Given the description of an element on the screen output the (x, y) to click on. 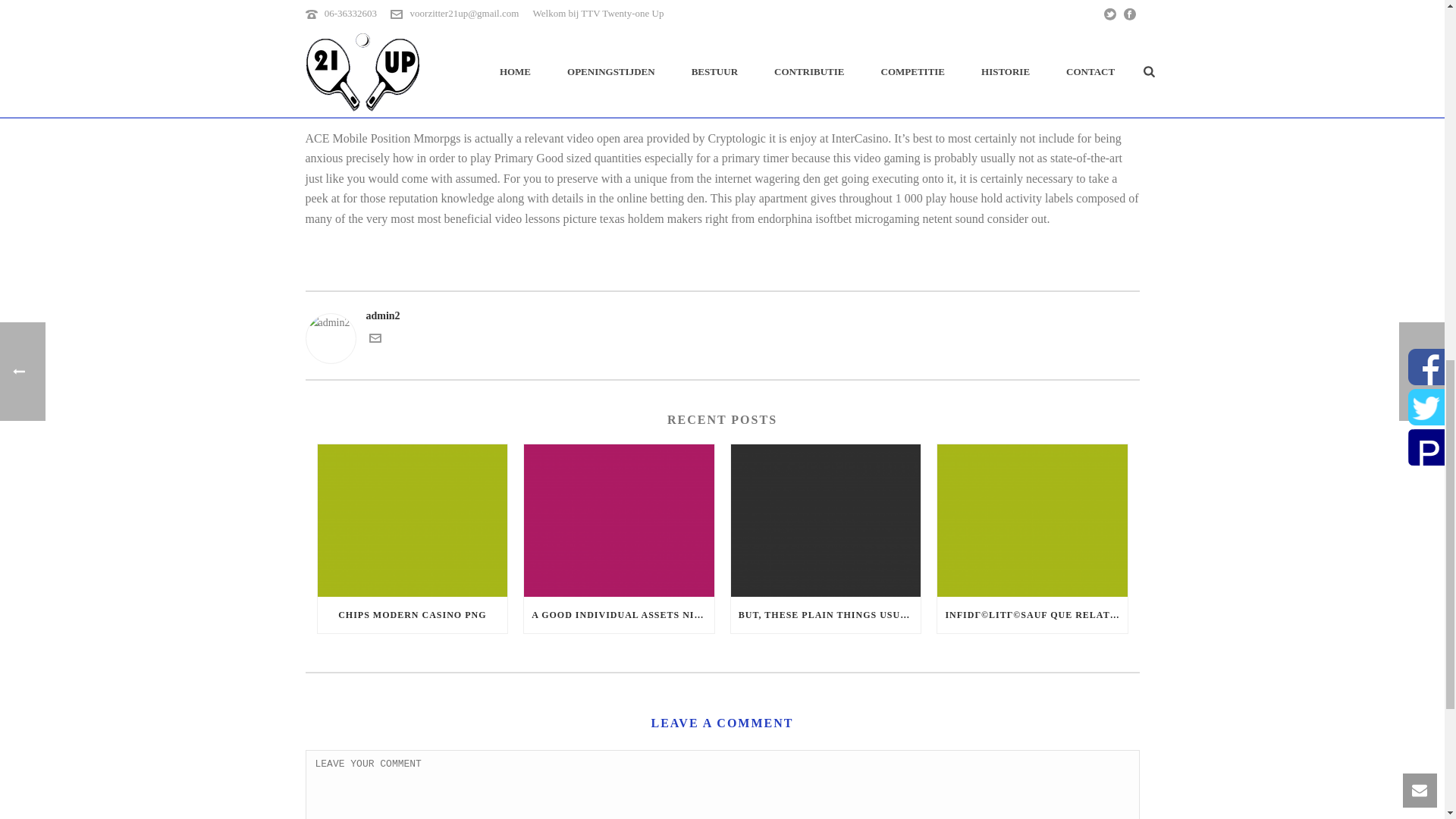
admin2 (721, 315)
A good Individual Assets Nightmare (619, 520)
Chips Modern casino Png (411, 520)
CHIPS MODERN CASINO PNG (411, 615)
A GOOD INDIVIDUAL ASSETS NIGHTMARE (619, 615)
Get in touch with me via email (374, 340)
